Given the description of an element on the screen output the (x, y) to click on. 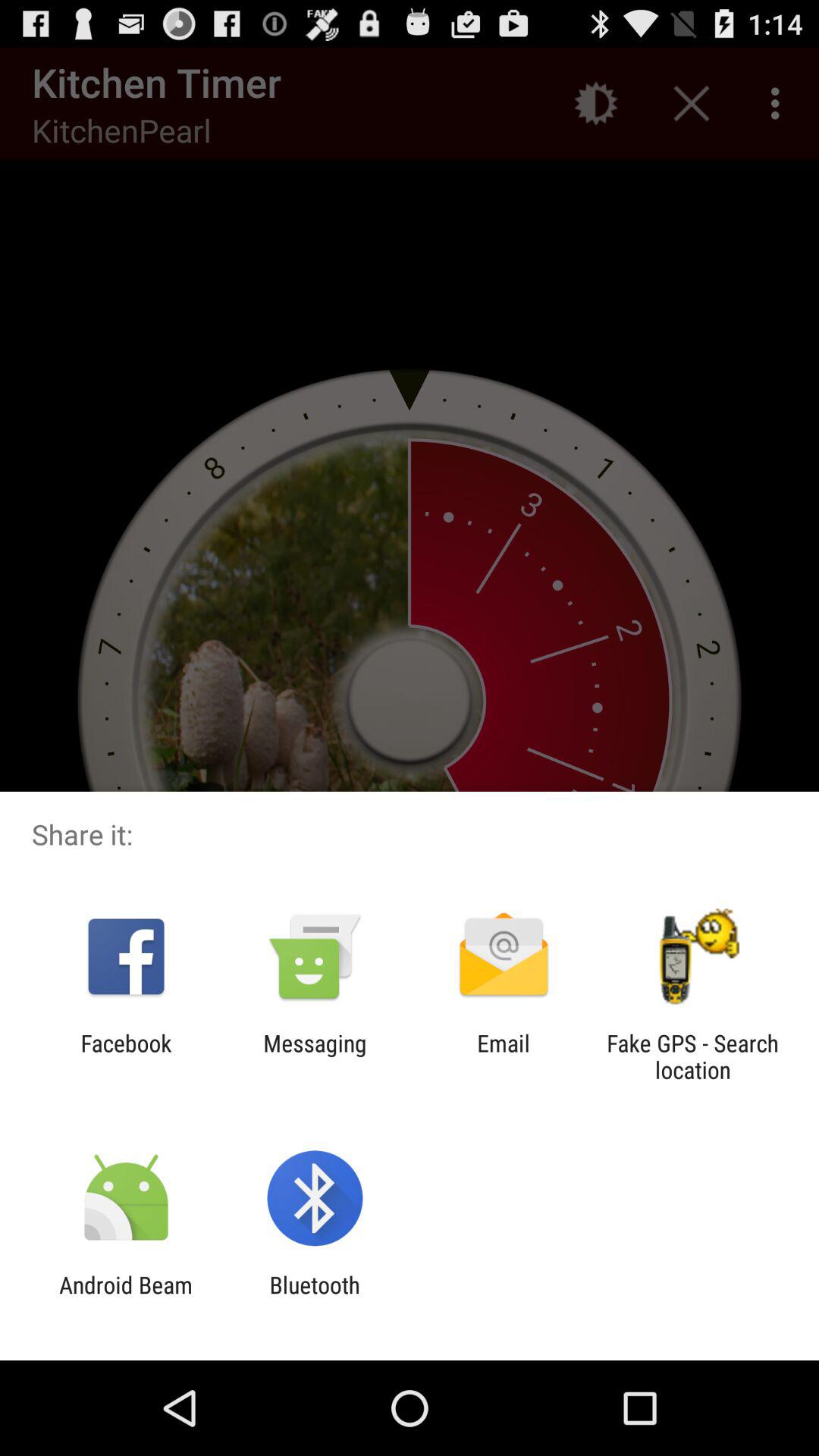
choose app next to facebook icon (314, 1056)
